Given the description of an element on the screen output the (x, y) to click on. 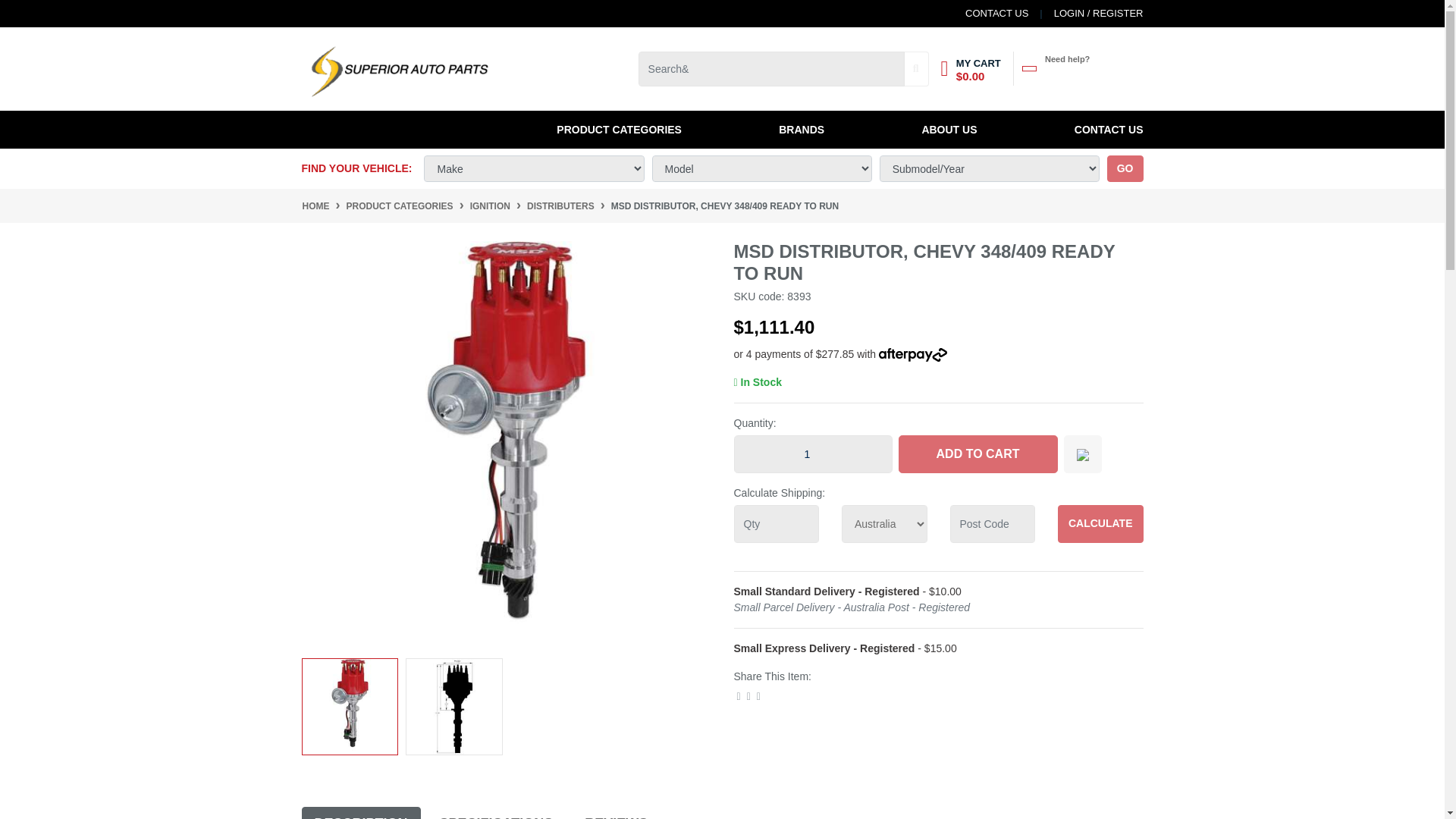
Calculate (1100, 523)
Login (1084, 13)
PRODUCT CATEGORIES (621, 129)
Add To Wishlist (1081, 453)
CONTACT US (996, 13)
Superior Auto Parts (398, 68)
1 (812, 453)
